Given the description of an element on the screen output the (x, y) to click on. 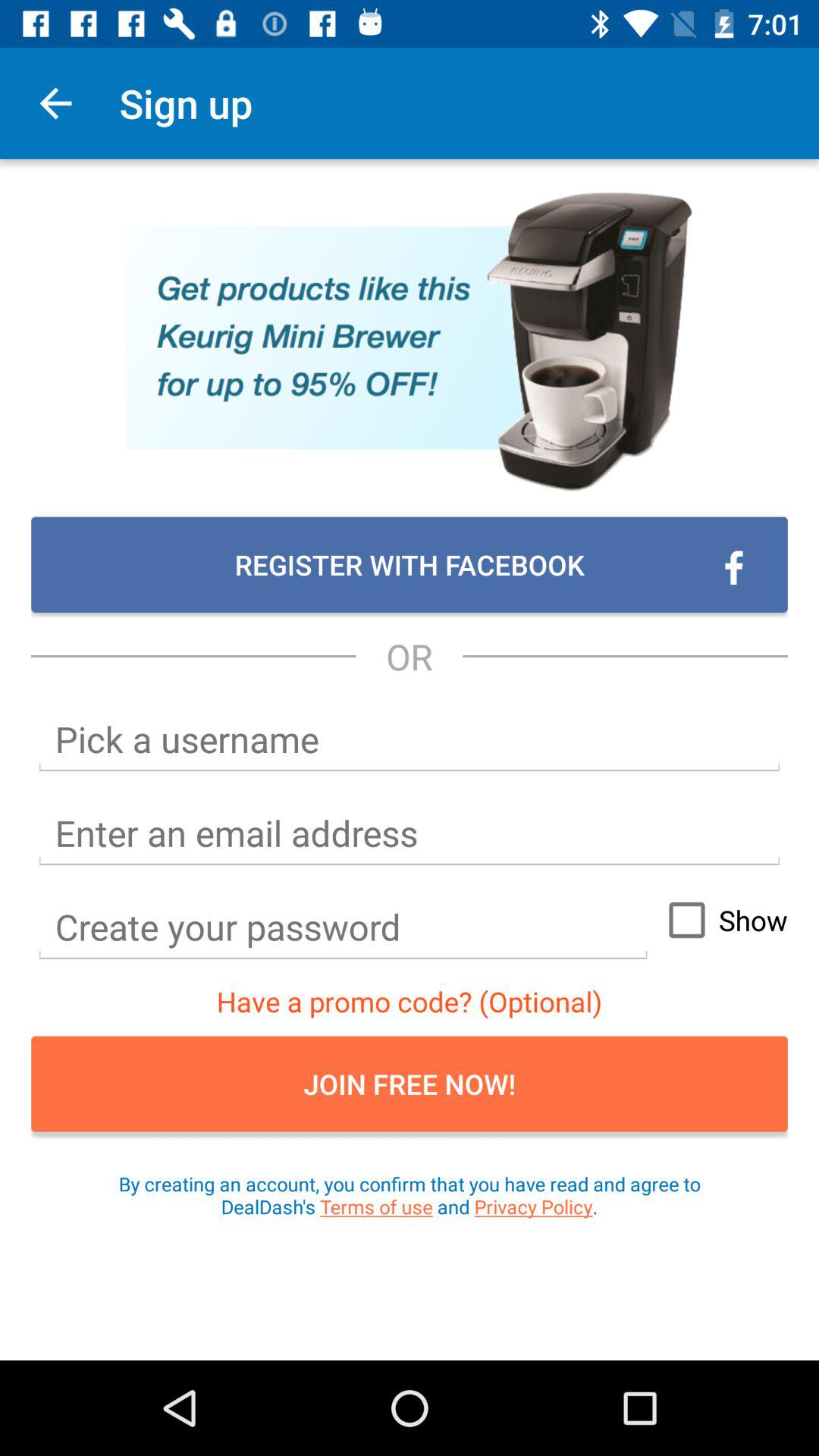
turn off the item above the join free now! item (409, 1001)
